Given the description of an element on the screen output the (x, y) to click on. 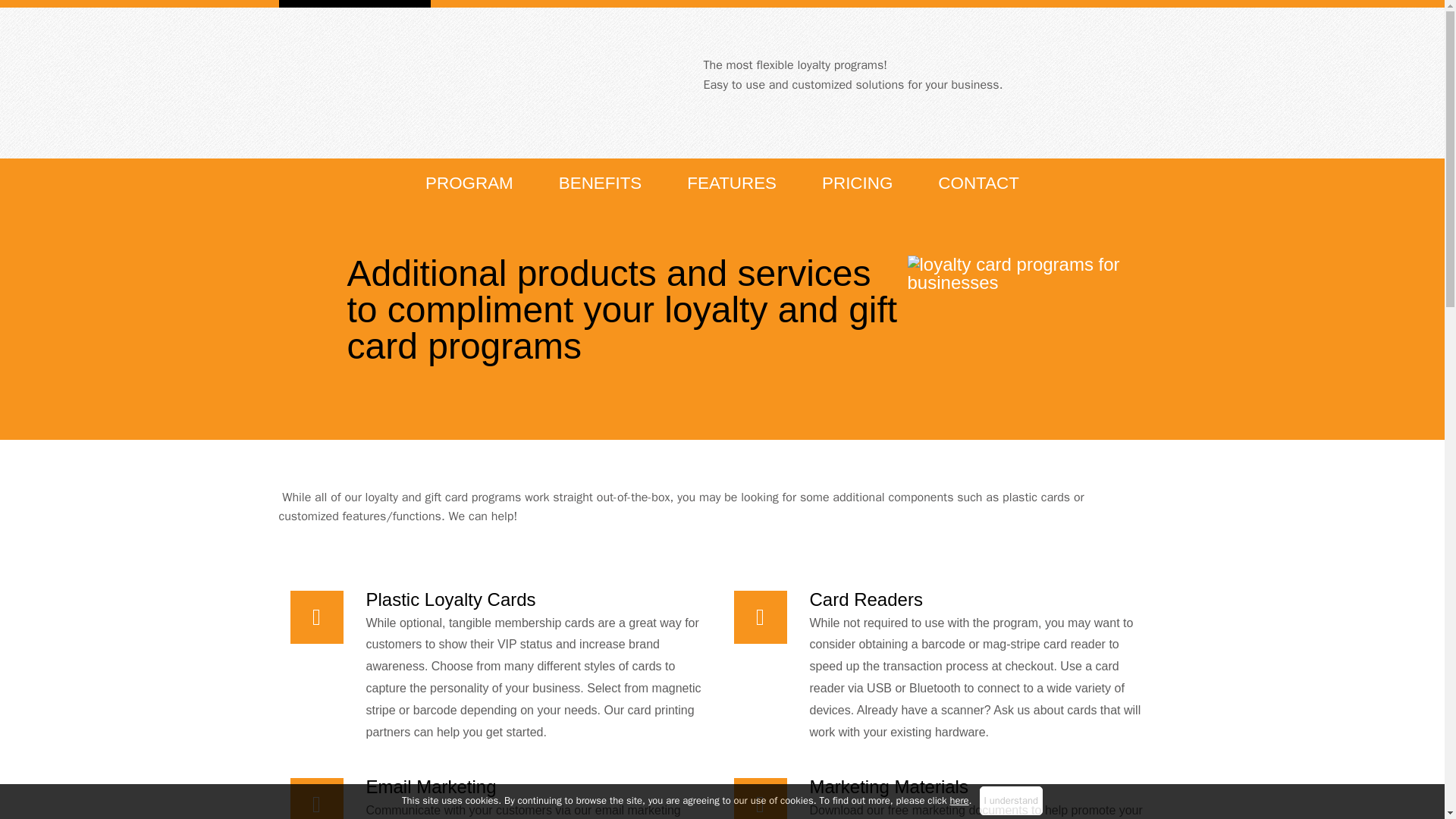
CONTACT (978, 183)
I understand (1010, 800)
FEATURES (731, 183)
here (958, 799)
loyalty gator program pricing plans (1036, 323)
PROGRAM (469, 183)
BENEFITS (599, 183)
PRICING (857, 183)
